Given the description of an element on the screen output the (x, y) to click on. 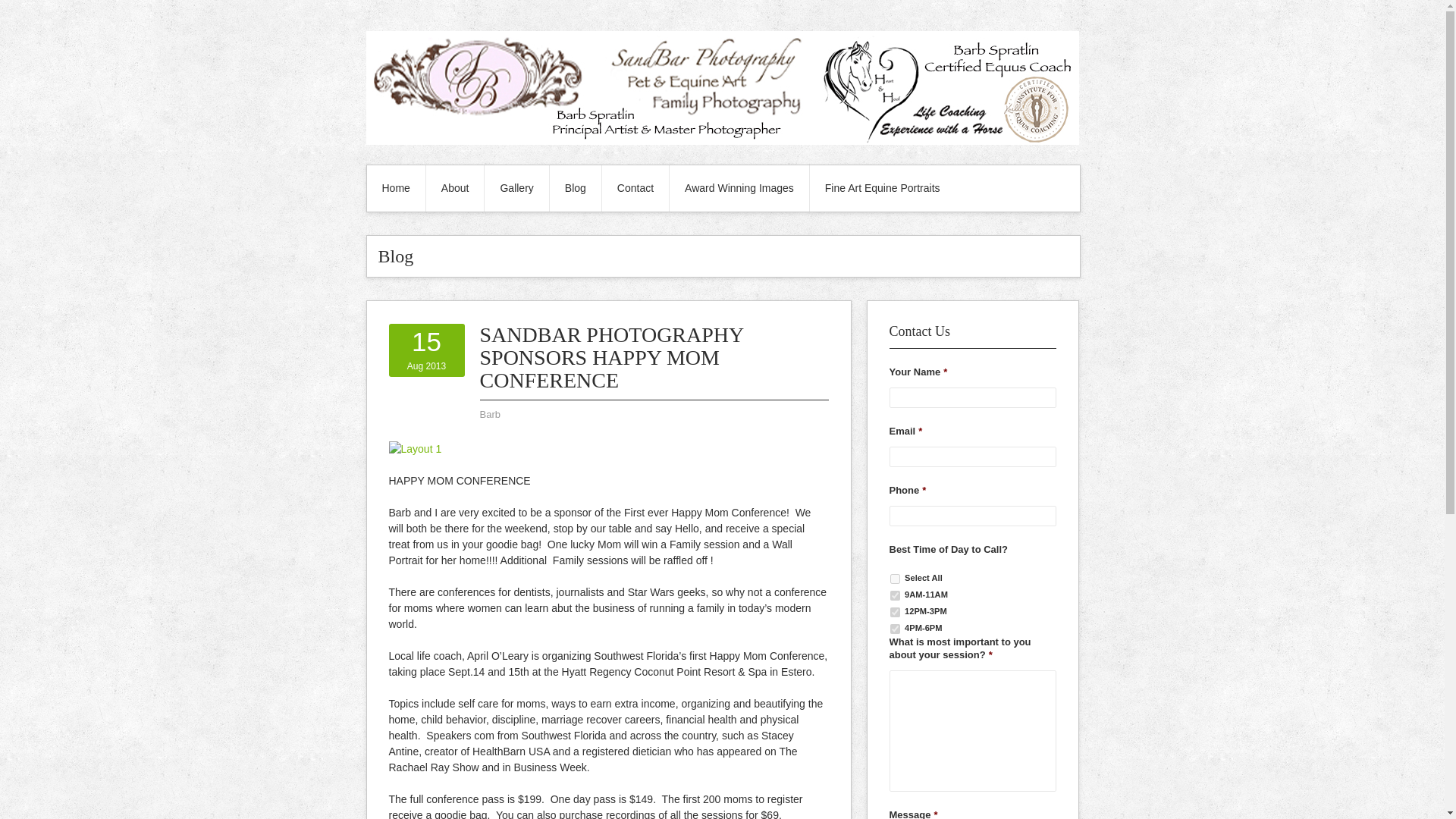
Gallery (516, 188)
Home (395, 188)
About (455, 188)
SandBar Photography (721, 141)
by Barb (489, 414)
August 15, 2013 9:46 am (426, 350)
4PM-6PM (894, 628)
12PM-3PM (894, 612)
9AM-11AM (894, 595)
Award Winning Images (739, 188)
on (894, 578)
Barb (489, 414)
Fine Art Equine Portraits (426, 350)
Contact (882, 188)
